Given the description of an element on the screen output the (x, y) to click on. 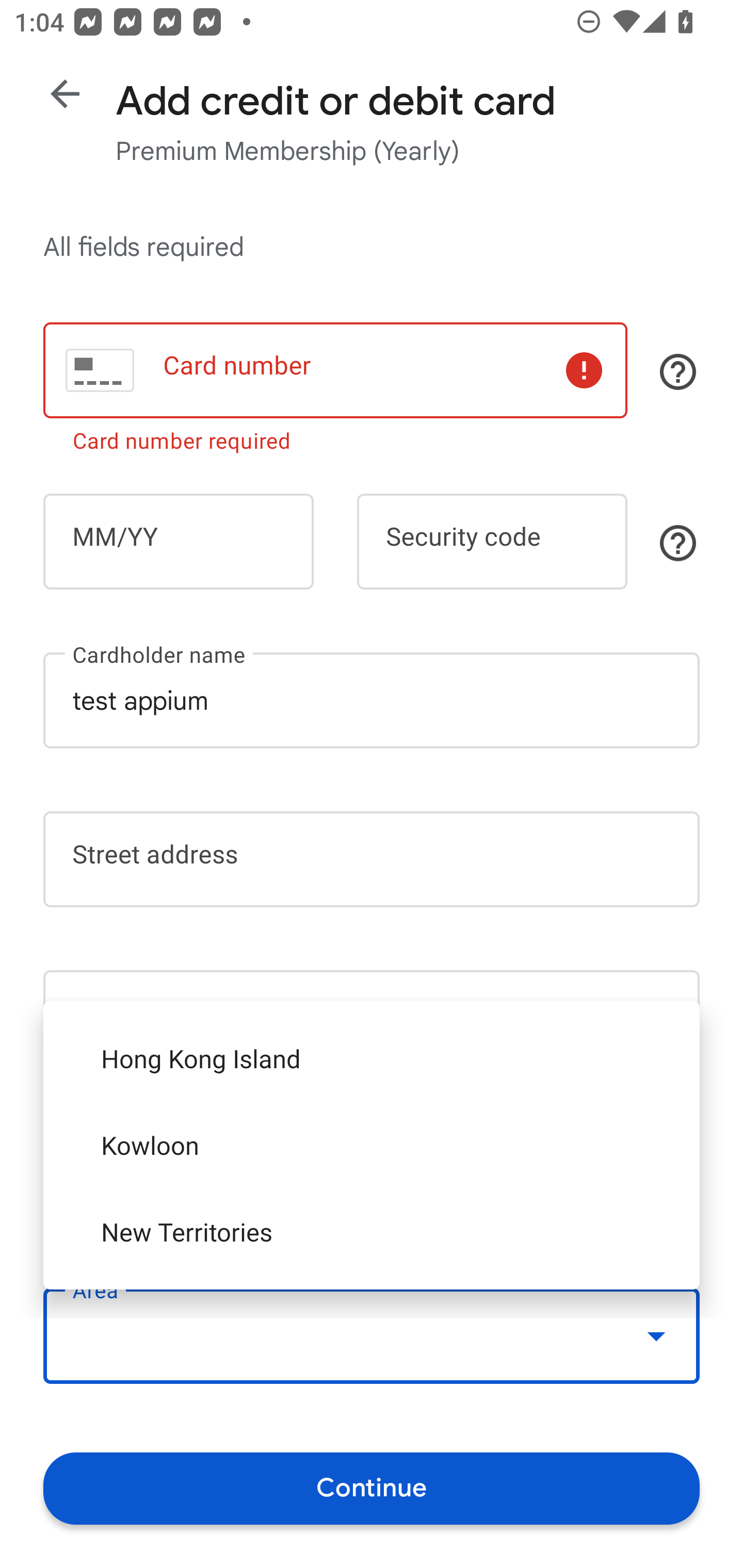
Back (64, 93)
Card number (335, 370)
Button, shows cards that are accepted for payment (677, 371)
Expiration date, 2 digit month, 2 digit year (178, 541)
Security code (492, 541)
Security code help (677, 543)
test appium (371, 699)
Street address (371, 858)
Area (371, 1335)
Show dropdown menu (655, 1335)
Continue (371, 1487)
